Given the description of an element on the screen output the (x, y) to click on. 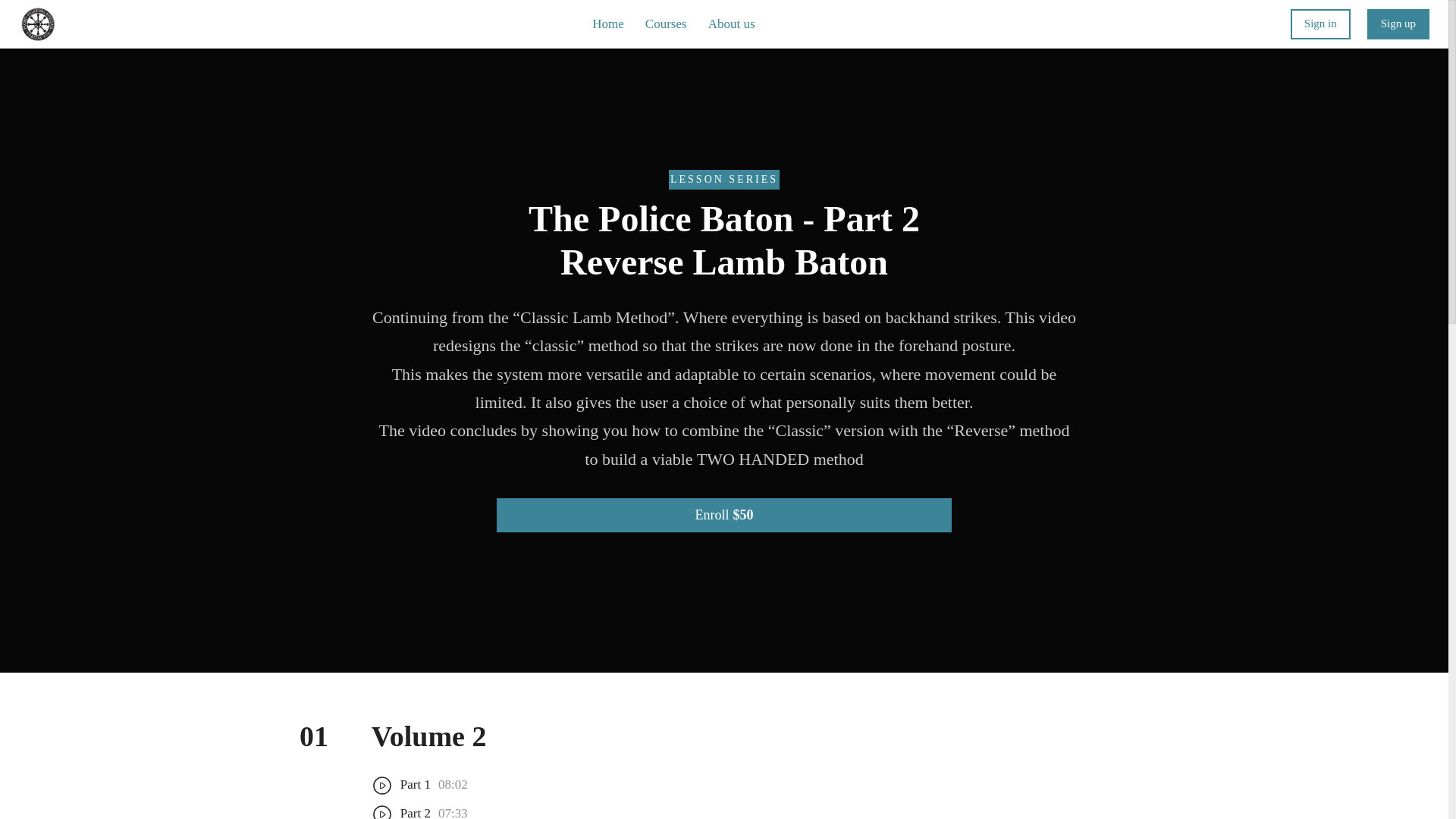
Sign in (1320, 23)
Sign up (1398, 23)
Courses (666, 24)
About us (731, 24)
Home (608, 24)
